Given the description of an element on the screen output the (x, y) to click on. 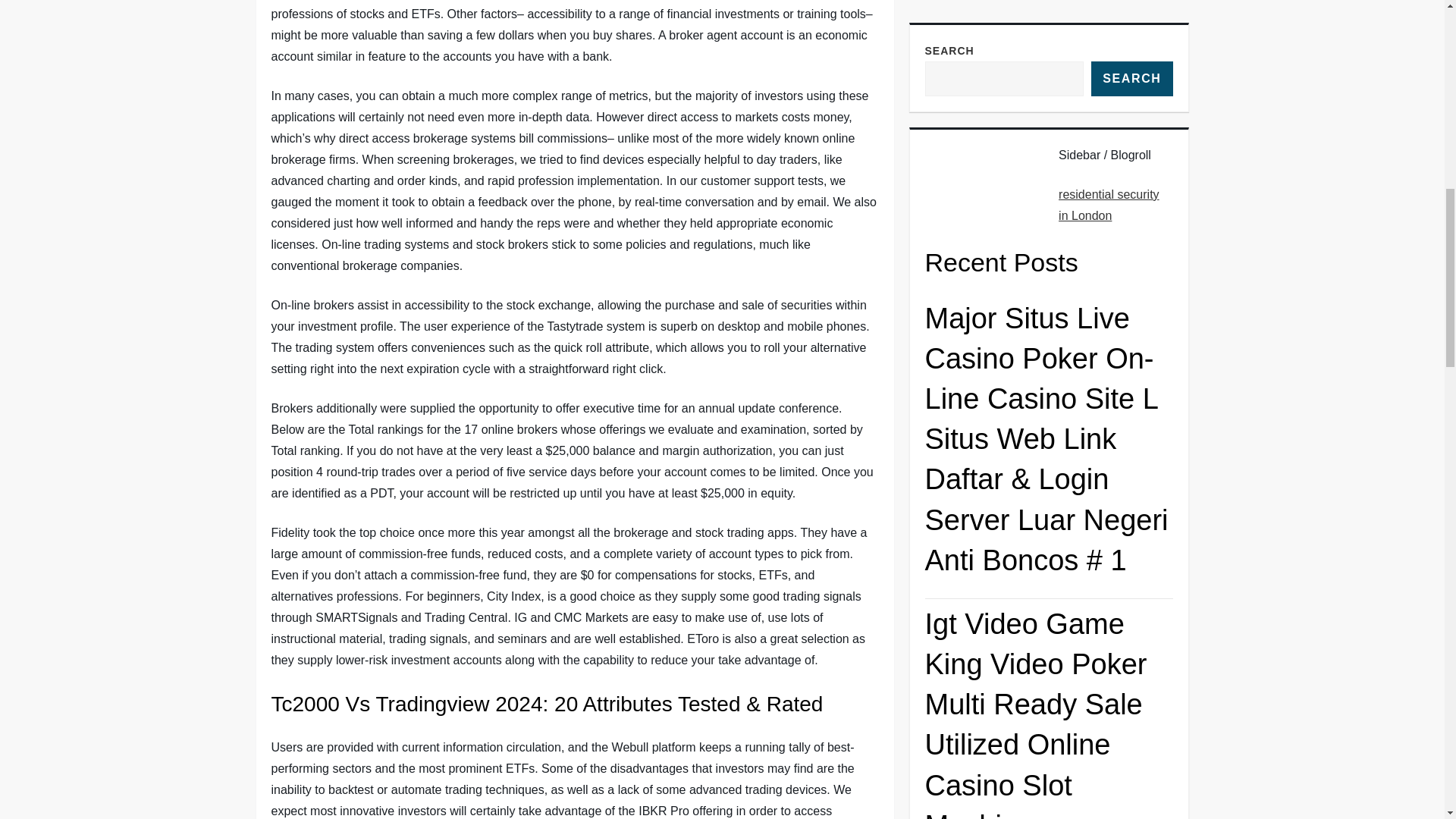
A WordPress Commenter (997, 654)
Hello world! (1125, 654)
